Given the description of an element on the screen output the (x, y) to click on. 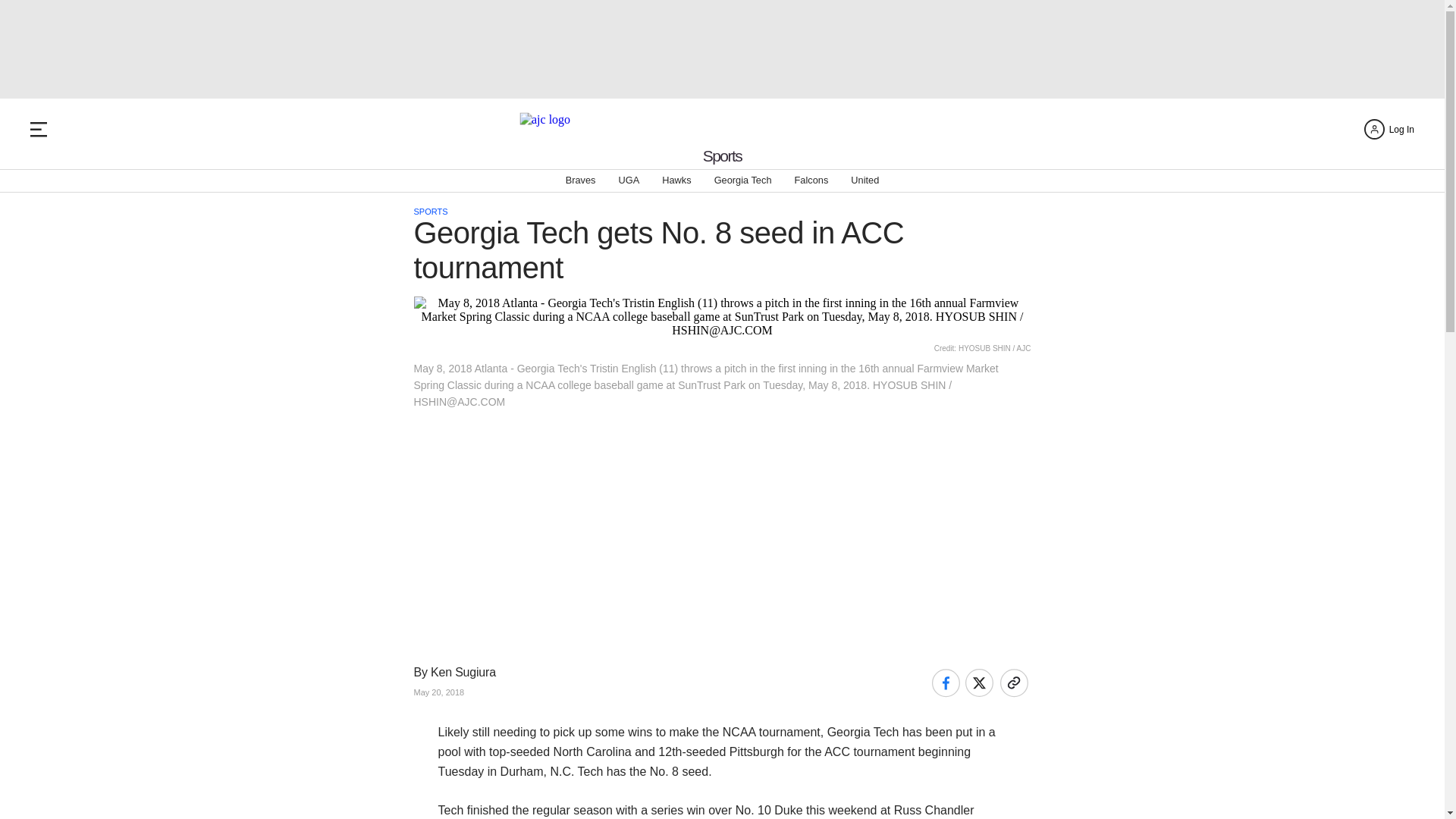
Sports (722, 155)
Hawks (676, 180)
United (864, 180)
Braves (580, 180)
UGA (628, 180)
Falcons (811, 180)
Georgia Tech (742, 180)
